Given the description of an element on the screen output the (x, y) to click on. 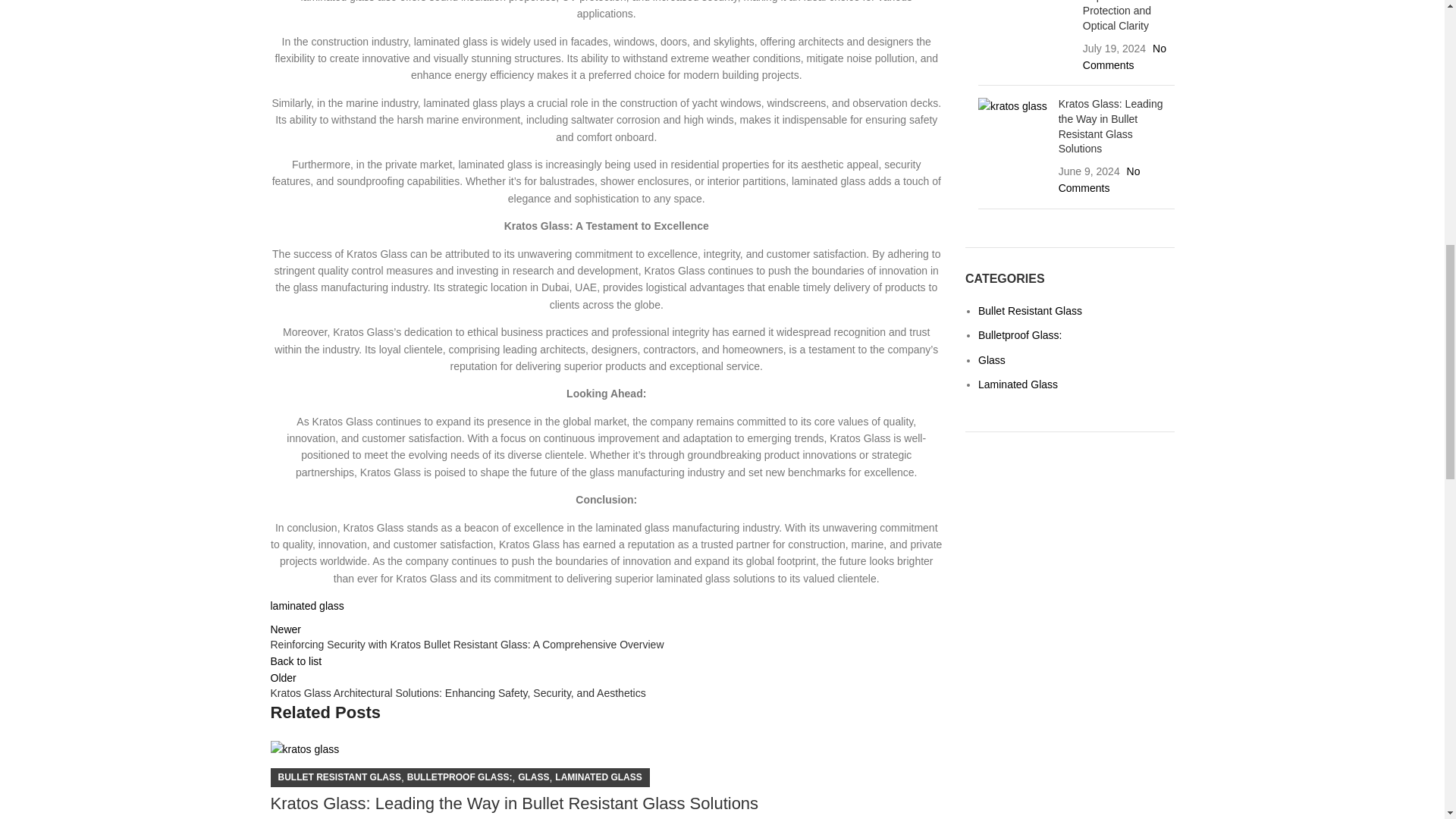
laminated glass (306, 605)
kratos glass (1012, 105)
LAMINATED GLASS (598, 777)
Back to list (295, 661)
BULLET RESISTANT GLASS (339, 777)
GLASS (533, 777)
